Given the description of an element on the screen output the (x, y) to click on. 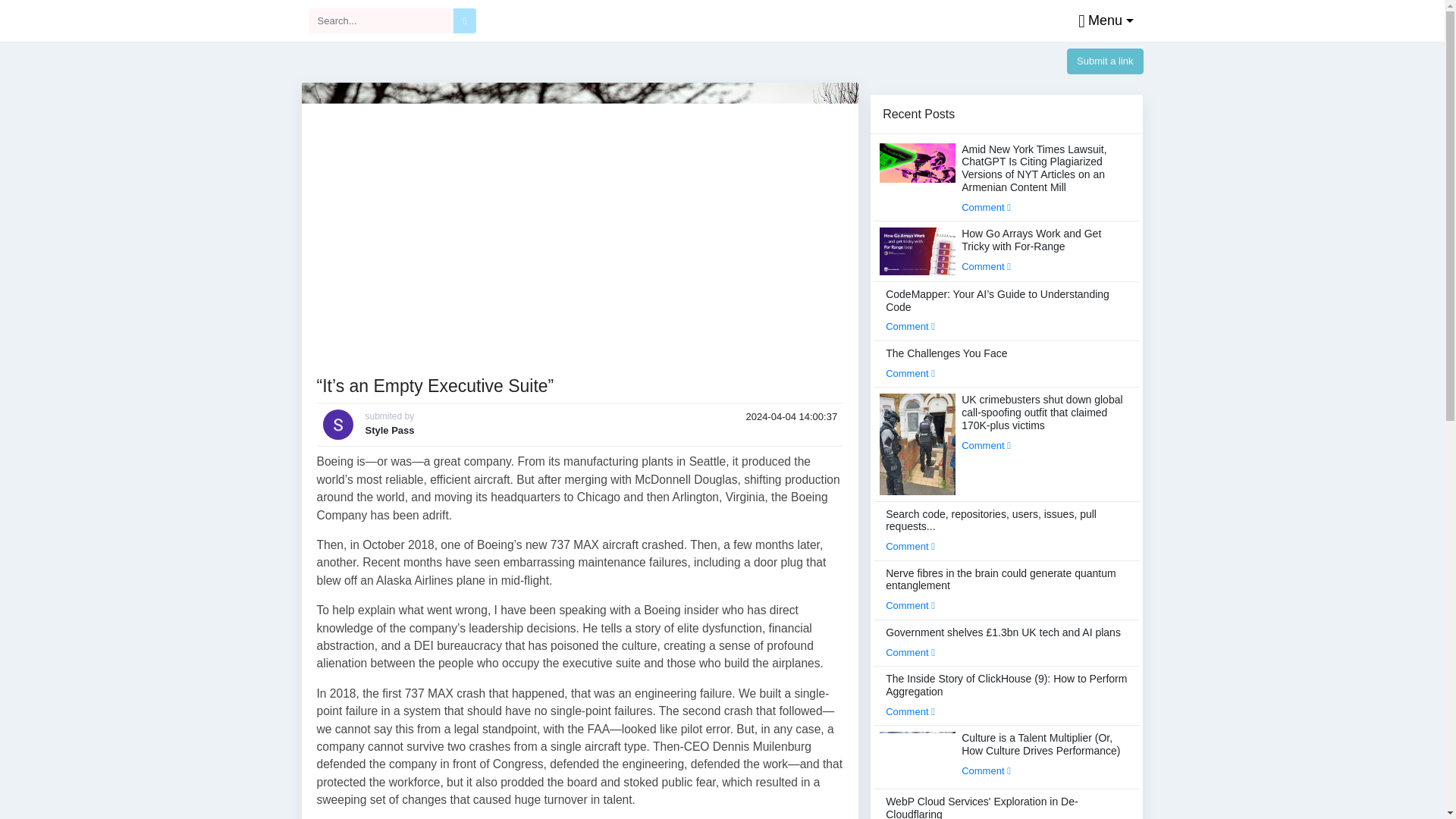
Menu (1101, 20)
Submit a link (1104, 61)
